Given the description of an element on the screen output the (x, y) to click on. 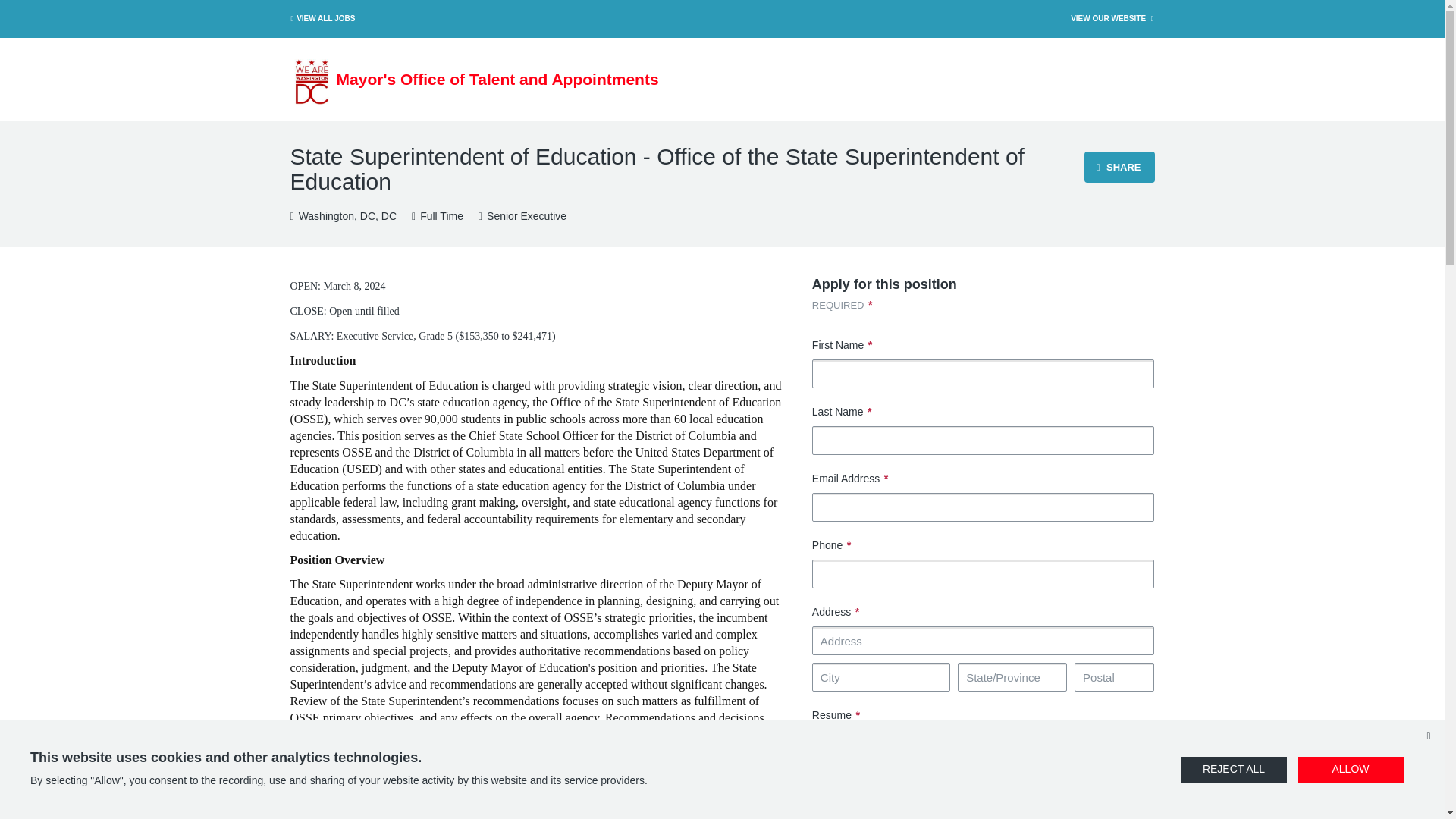
Attach resume (846, 737)
Paste resume (927, 737)
VIEW ALL JOBS (320, 18)
VIEW OUR WEBSITE (1113, 18)
Type (437, 216)
SHARE (1119, 166)
Location (342, 216)
Experience (522, 216)
ALLOW (1350, 769)
REJECT ALL (1233, 769)
